Given the description of an element on the screen output the (x, y) to click on. 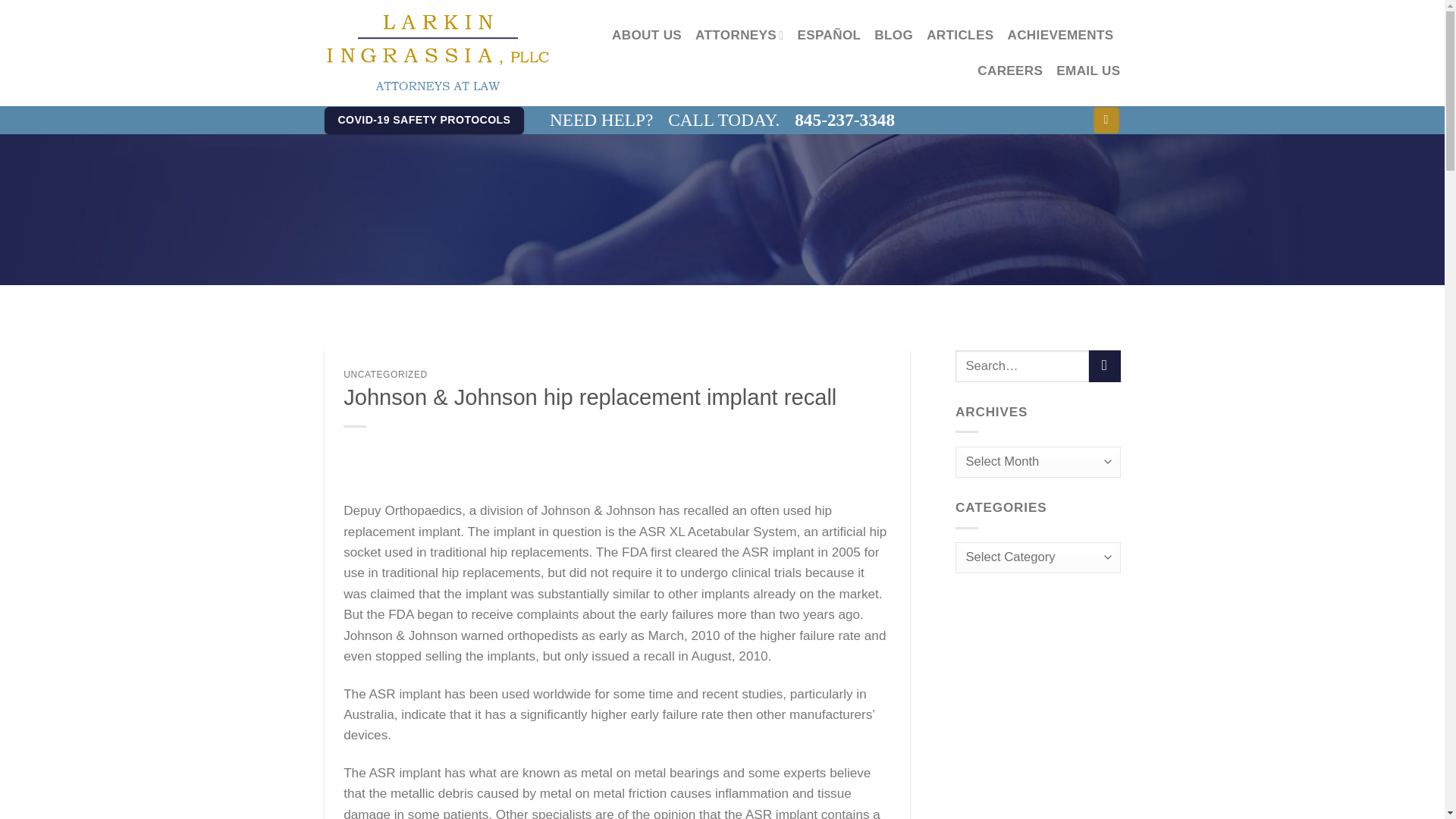
CAREERS (1009, 70)
EMAIL US (1088, 70)
845 Law - Criminal Defense Law Firm (437, 53)
COVID-19 SAFETY PROTOCOLS (424, 120)
ACHIEVEMENTS (1060, 35)
ARTICLES (959, 35)
ABOUT US (646, 35)
845-237-3348 (844, 120)
BLOG (893, 35)
ATTORNEYS (739, 35)
